Given the description of an element on the screen output the (x, y) to click on. 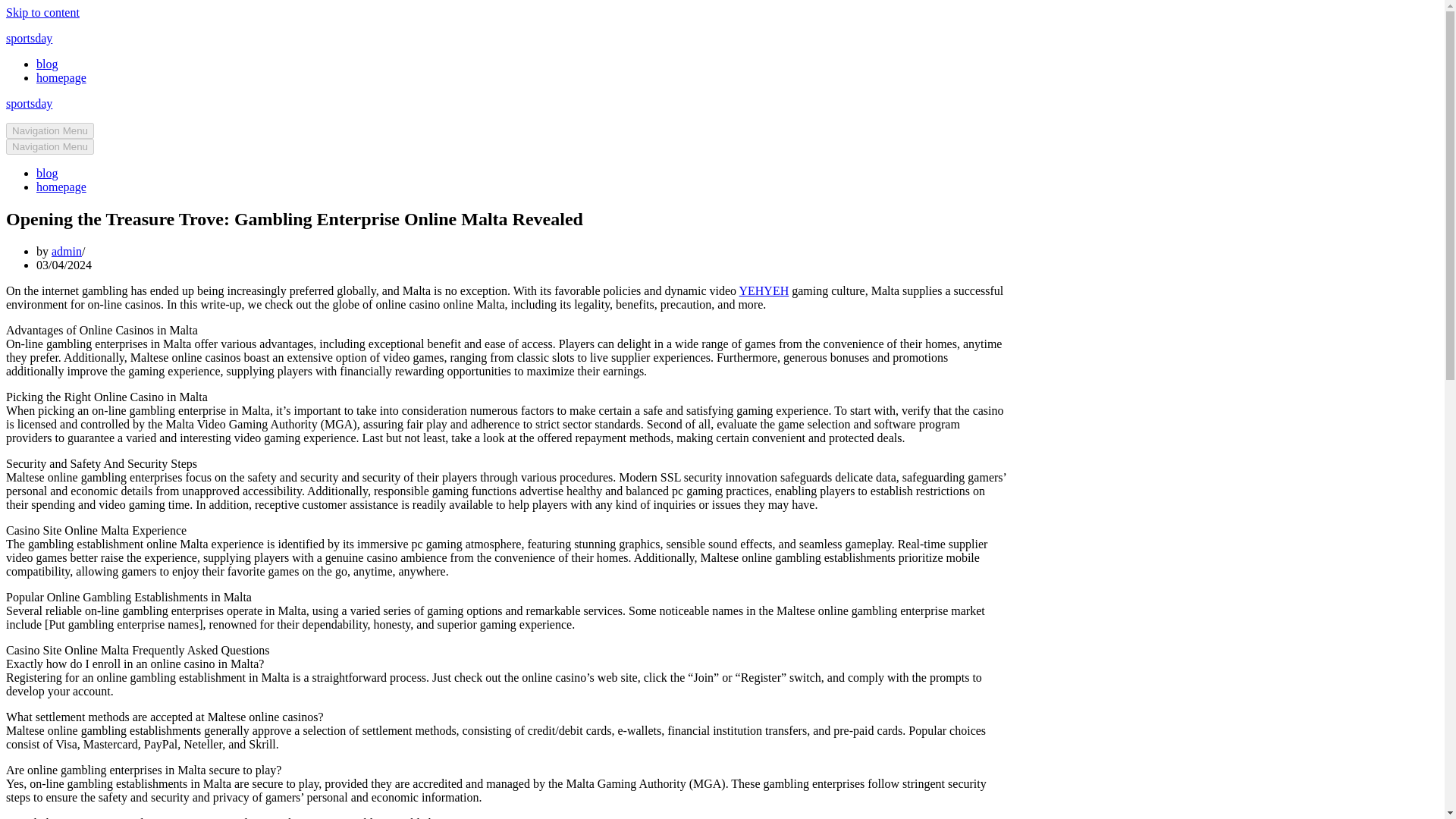
Skip to content (42, 11)
Navigation Menu (49, 130)
YEHYEH (763, 290)
homepage (60, 77)
blog (47, 173)
Posts by admin (65, 250)
admin (65, 250)
blog (47, 63)
Navigation Menu (49, 146)
homepage (60, 186)
